Given the description of an element on the screen output the (x, y) to click on. 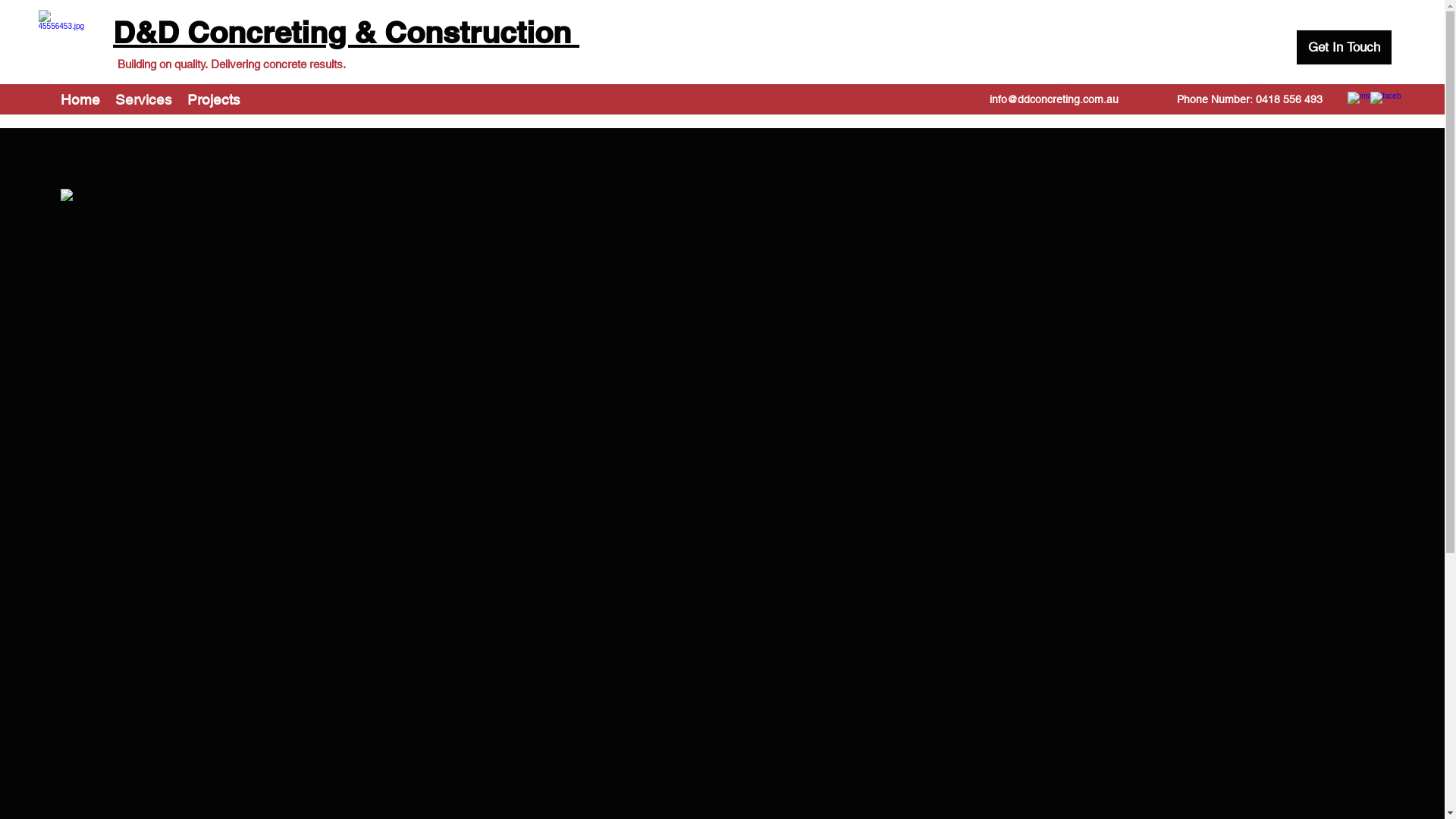
Get In Touch Element type: text (1343, 47)
Projects Element type: text (213, 98)
Home Element type: text (80, 98)
D&D Concreting & Construction  Element type: text (345, 35)
Services Element type: text (143, 98)
info@ddconcreting.com.au Element type: text (1053, 99)
